Given the description of an element on the screen output the (x, y) to click on. 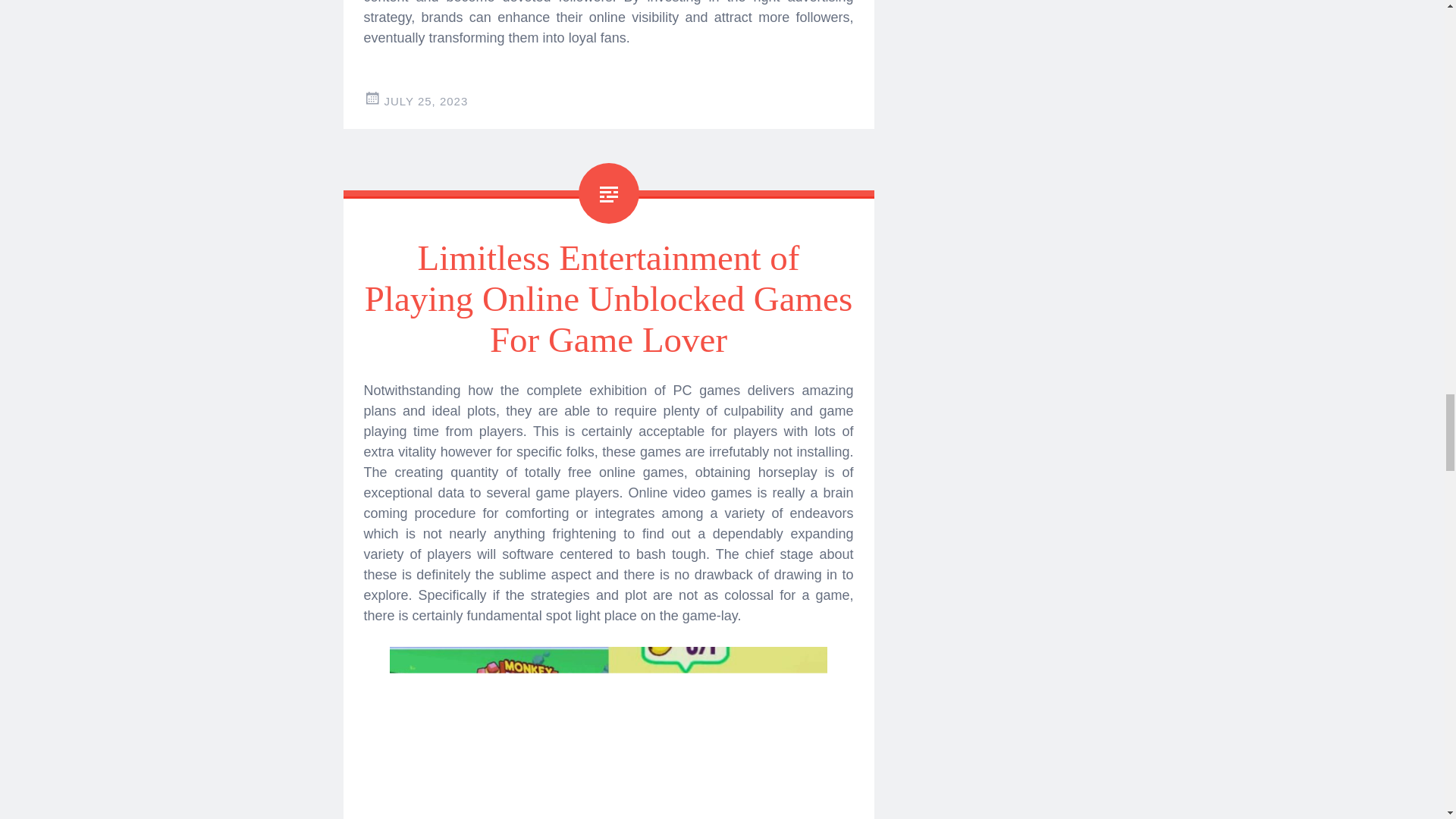
9:17 am (425, 101)
JULY 25, 2023 (425, 101)
